Given the description of an element on the screen output the (x, y) to click on. 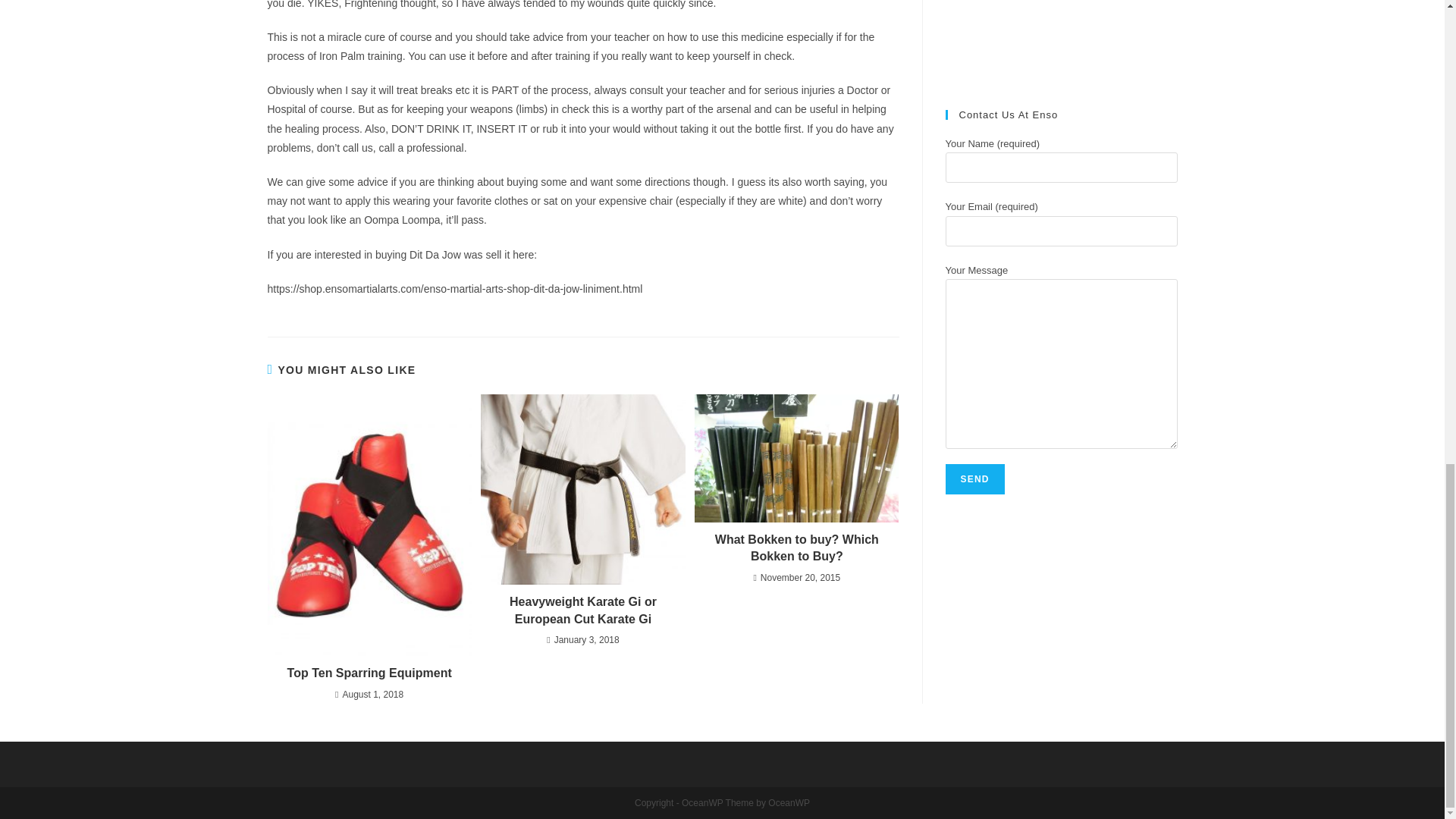
Send (974, 479)
